Given the description of an element on the screen output the (x, y) to click on. 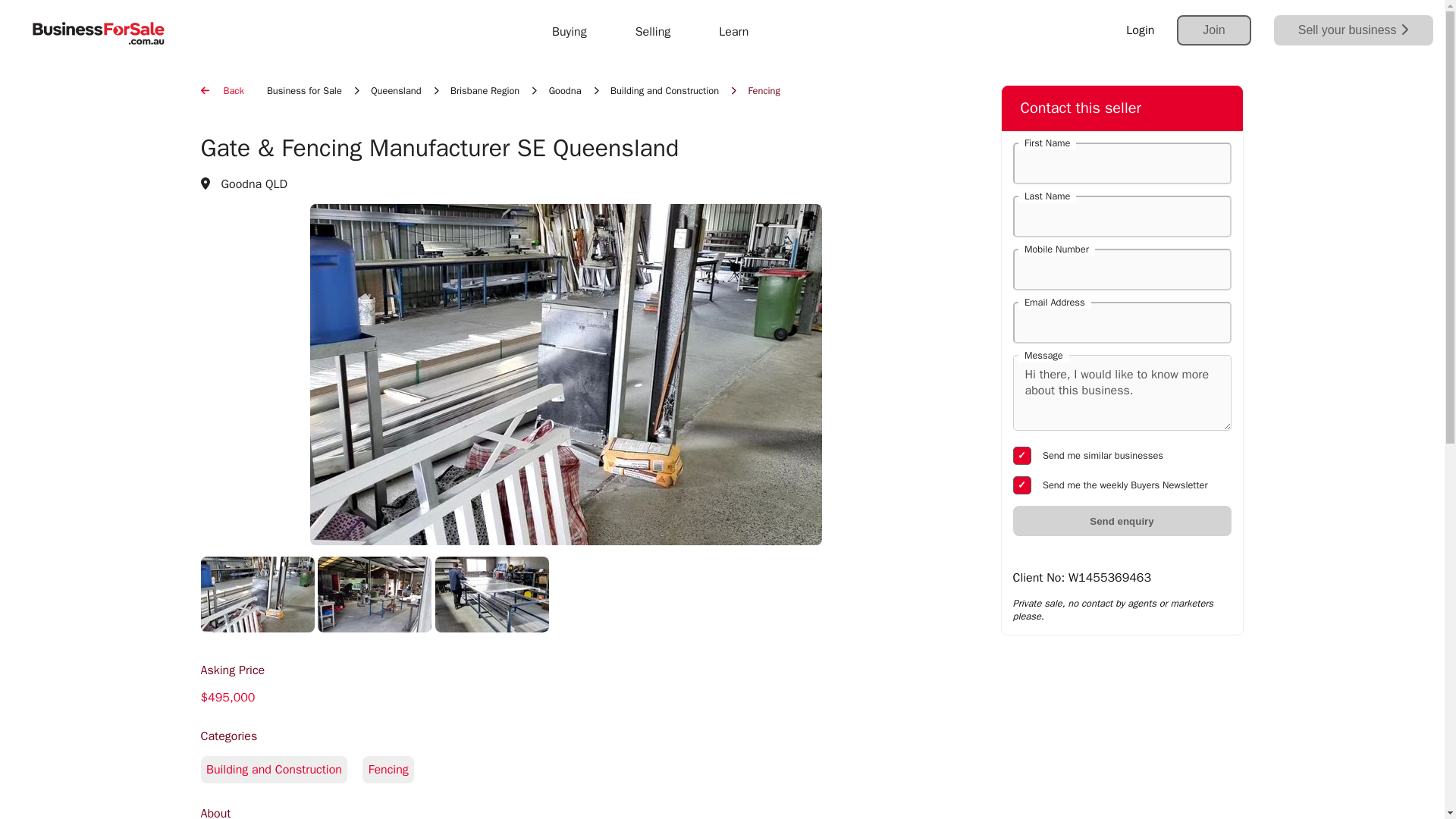
Send enquiry (1122, 521)
Goodna (564, 91)
Queensland (395, 91)
Brisbane Region (484, 91)
Building and Construction (664, 91)
Login (1139, 30)
Join (1213, 30)
Business for Sale (304, 91)
Building and Construction (565, 785)
Back (221, 91)
